Given the description of an element on the screen output the (x, y) to click on. 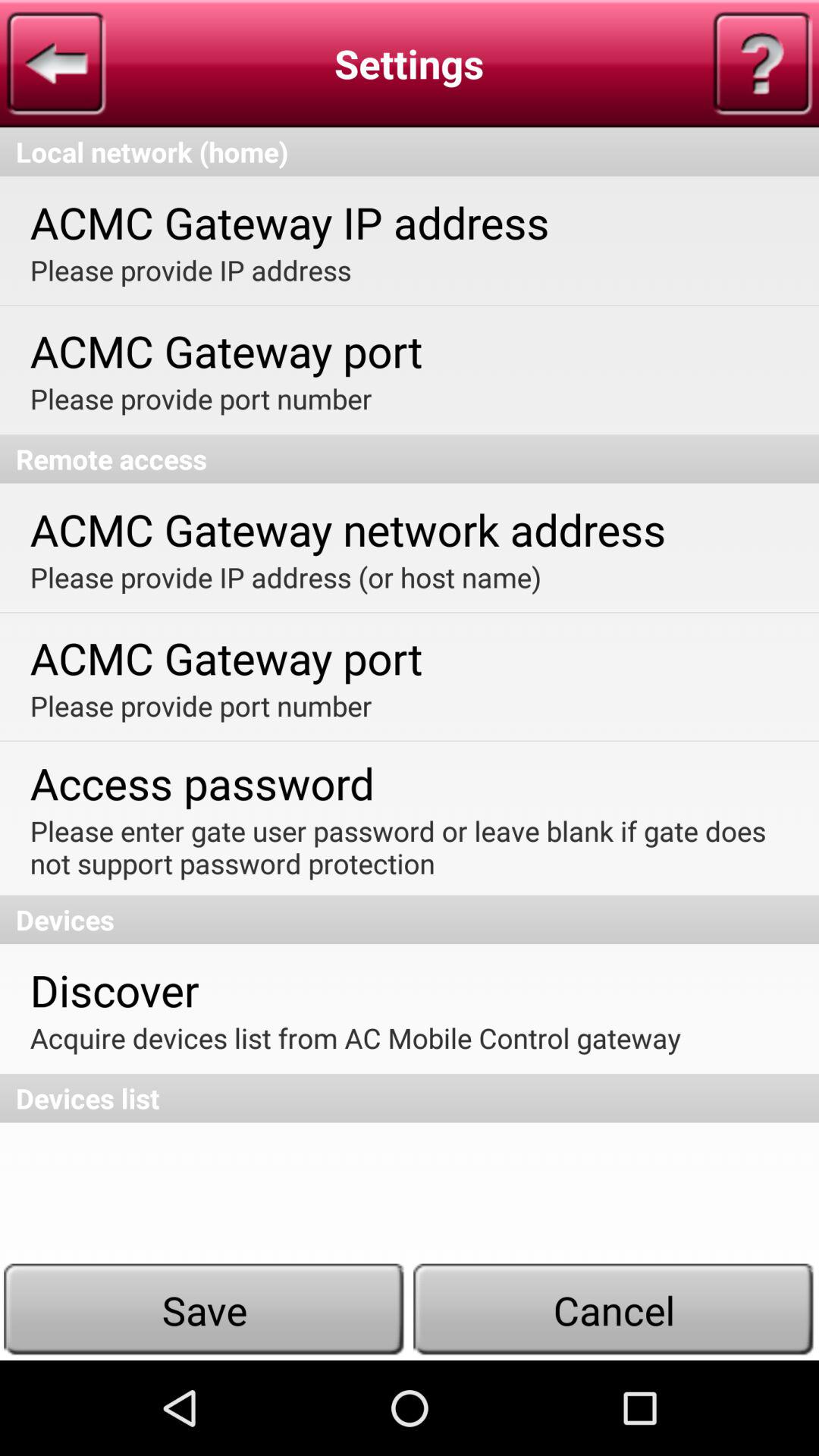
jump to the cancel (614, 1309)
